Given the description of an element on the screen output the (x, y) to click on. 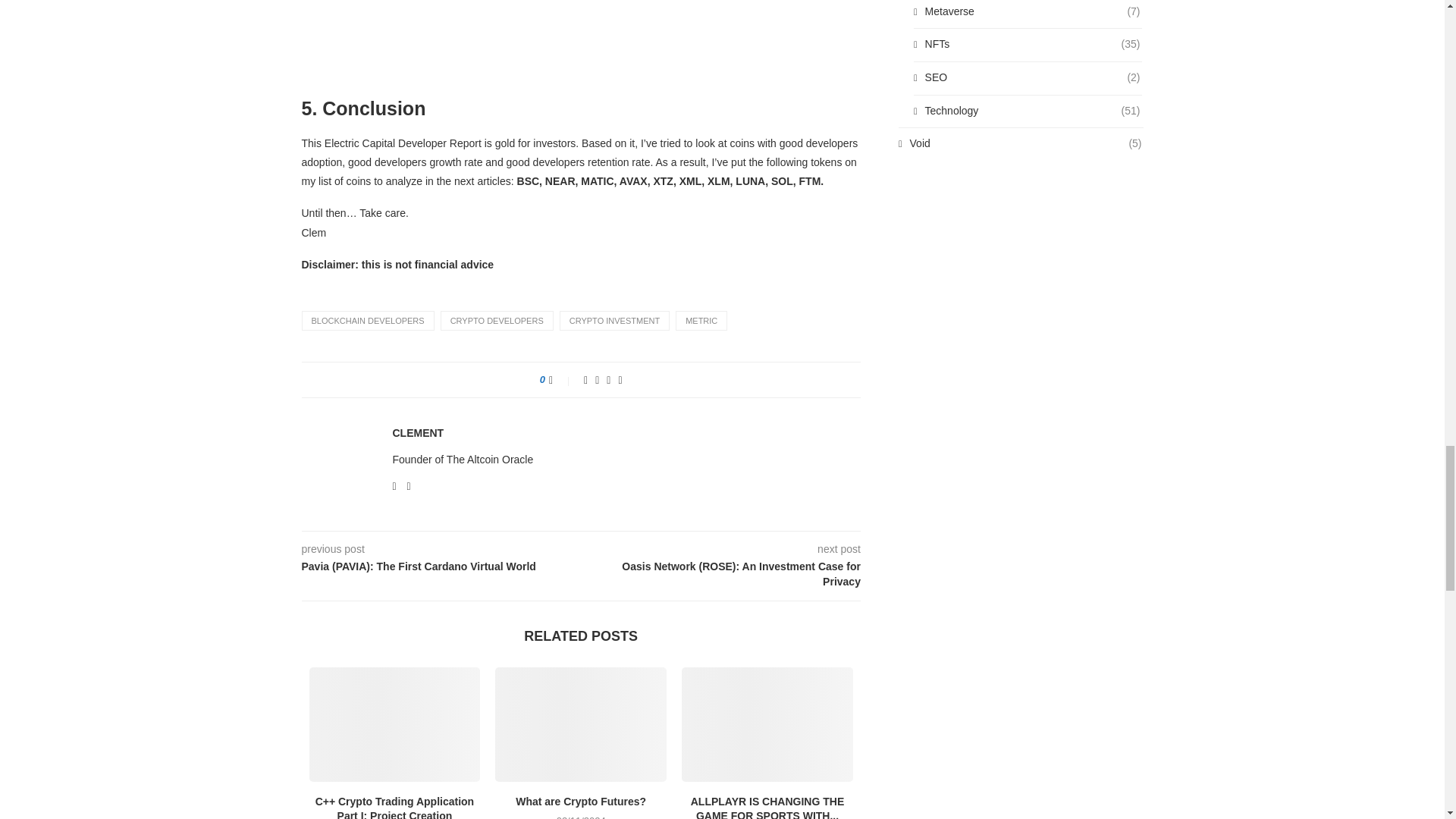
What are Crypto Futures? (580, 724)
METRIC (700, 320)
CLEMENT (418, 432)
CRYPTO INVESTMENT (614, 320)
CRYPTO DEVELOPERS (497, 320)
Like (560, 379)
Author Clement (418, 432)
BLOCKCHAIN DEVELOPERS (367, 320)
